Given the description of an element on the screen output the (x, y) to click on. 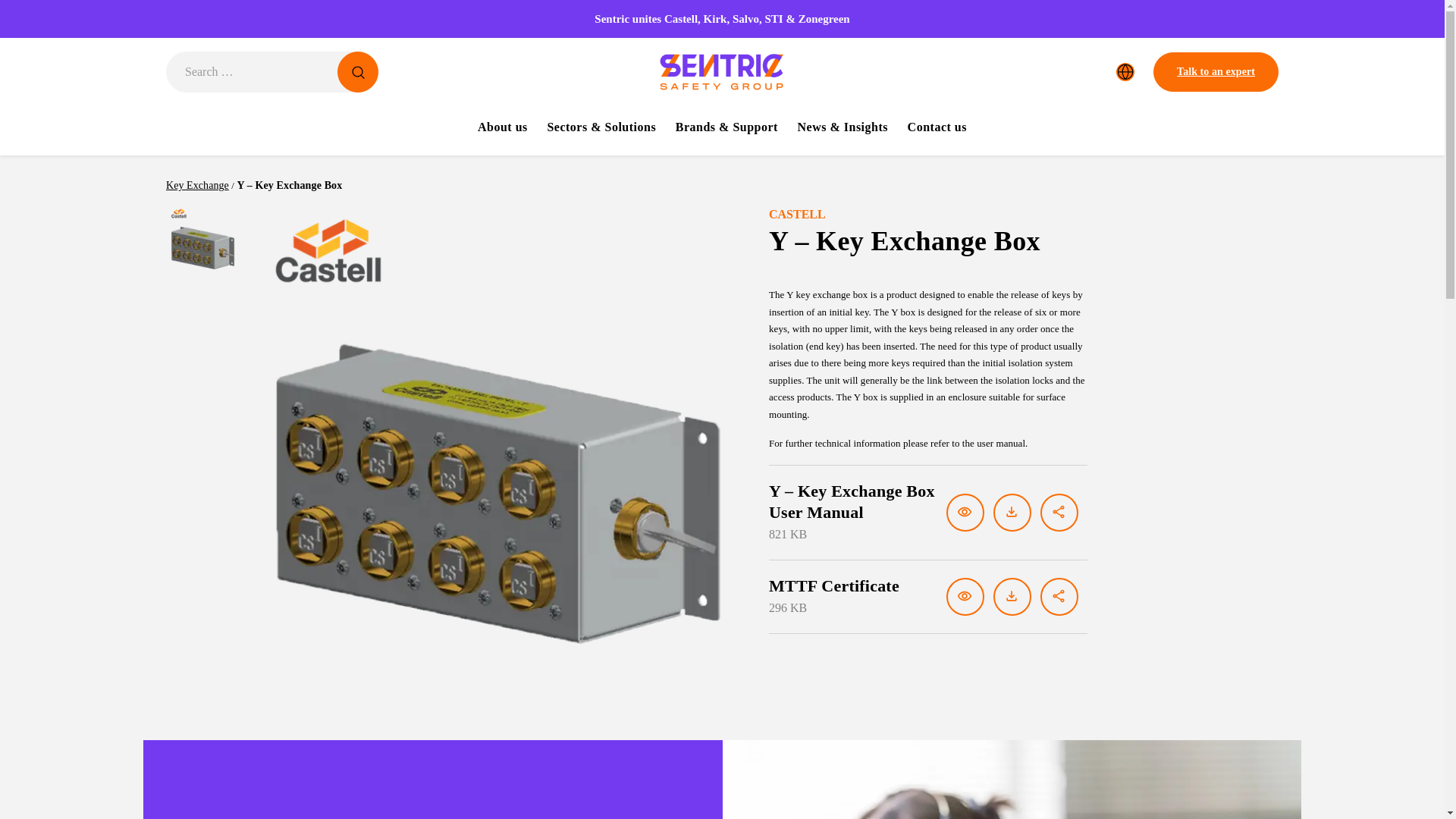
About us (502, 130)
